Given the description of an element on the screen output the (x, y) to click on. 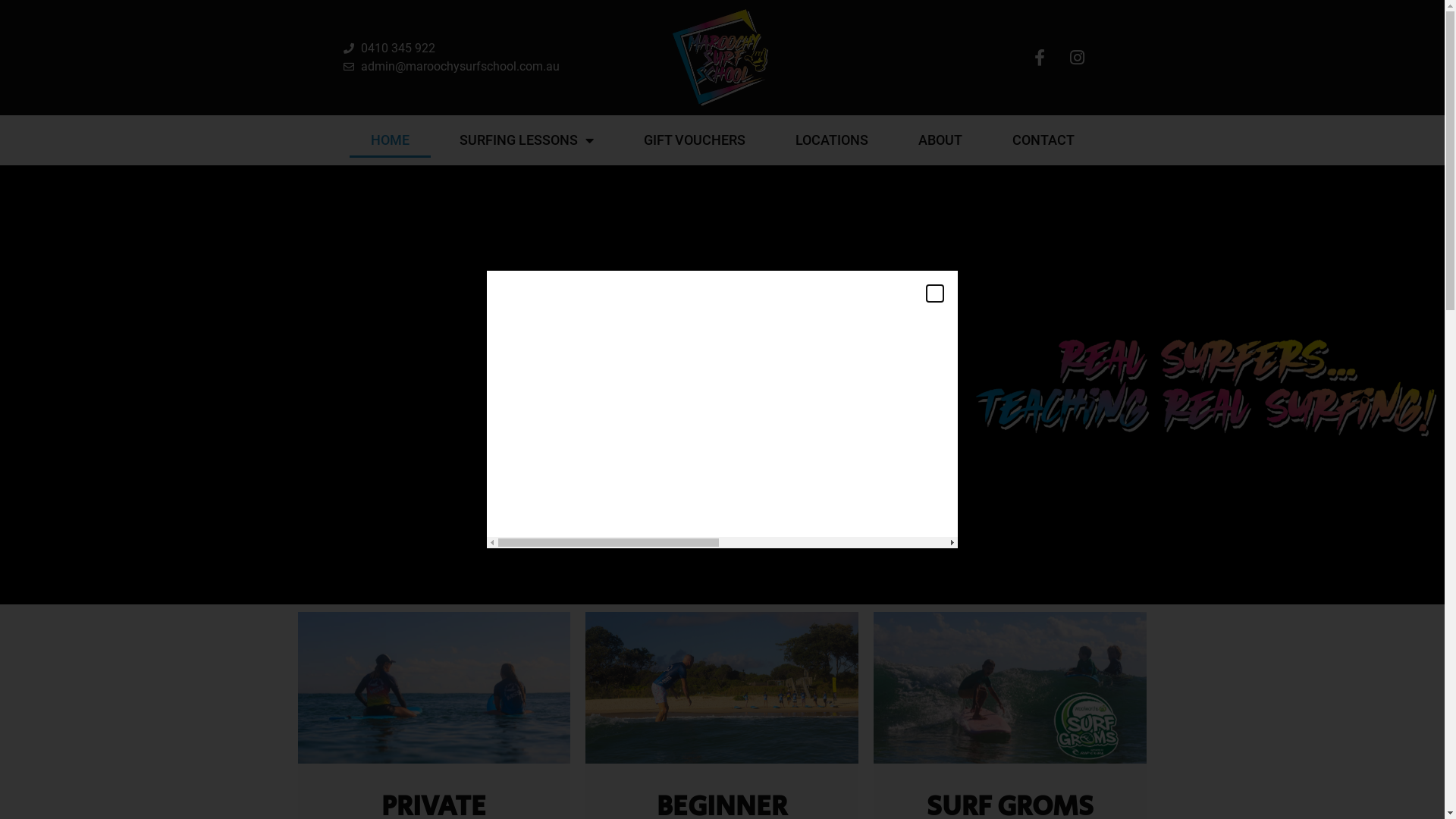
ABOUT Element type: text (939, 139)
LOCATIONS Element type: text (830, 139)
HOME Element type: text (388, 139)
GIFT VOUCHERS Element type: text (693, 139)
CONTACT Element type: text (1042, 139)
vimeo Video Player Element type: hover (390, 384)
SURFING LESSONS Element type: text (526, 139)
